Given the description of an element on the screen output the (x, y) to click on. 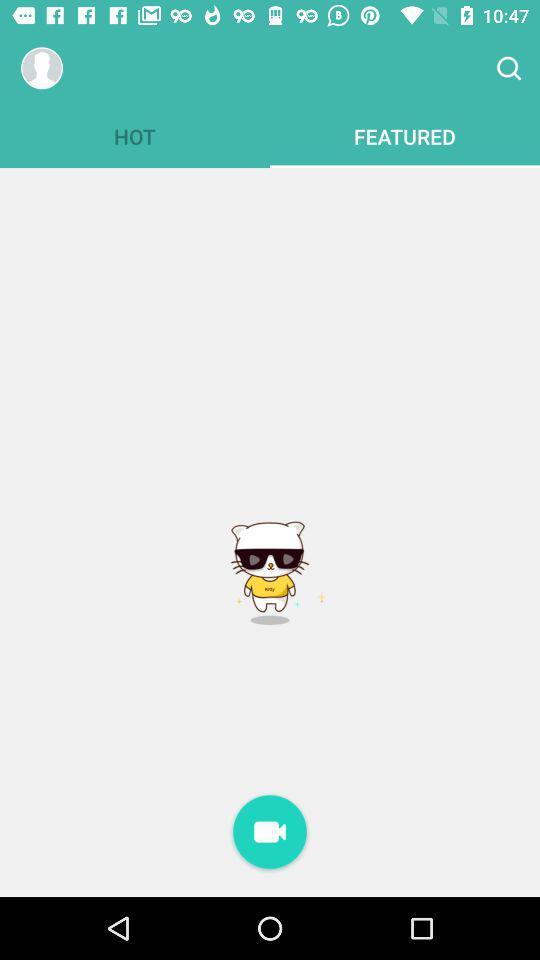
record video (269, 834)
